Given the description of an element on the screen output the (x, y) to click on. 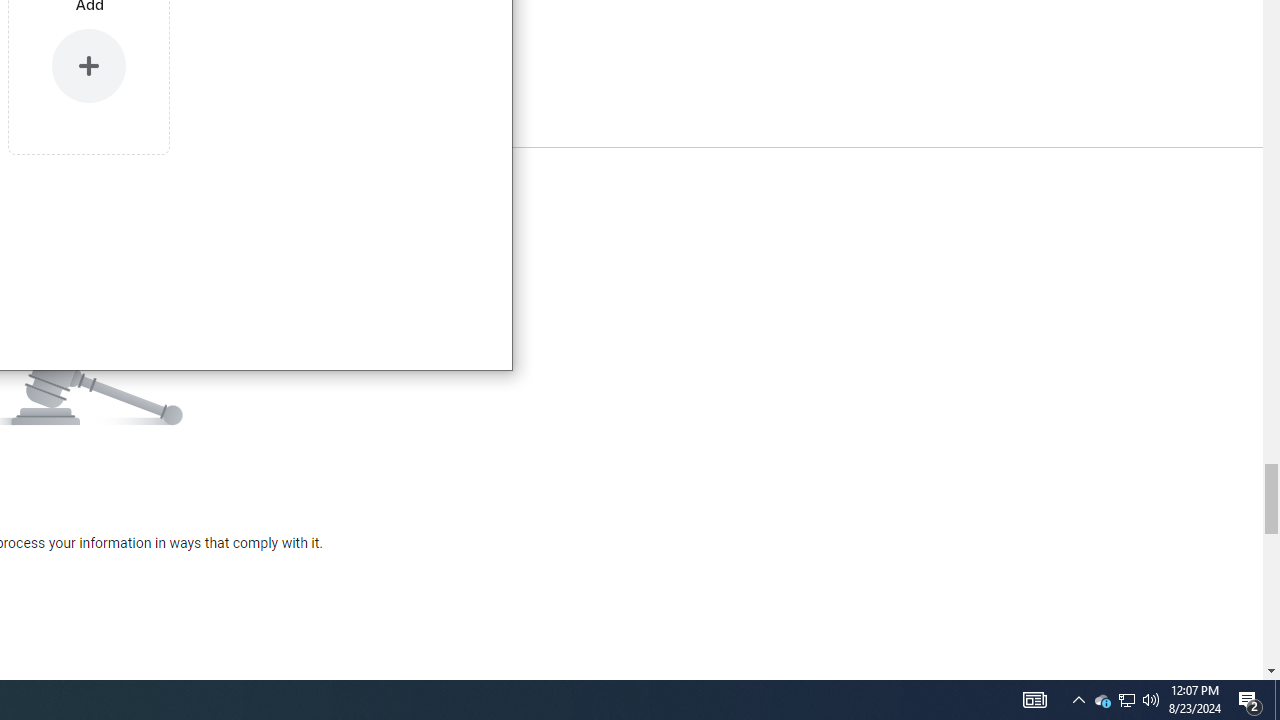
Notification Chevron (1078, 699)
Q2790: 100% (1151, 699)
Show desktop (1126, 699)
Action Center, 2 new notifications (1277, 699)
AutomationID: 4105 (1250, 699)
User Promoted Notification Area (1102, 699)
